Given the description of an element on the screen output the (x, y) to click on. 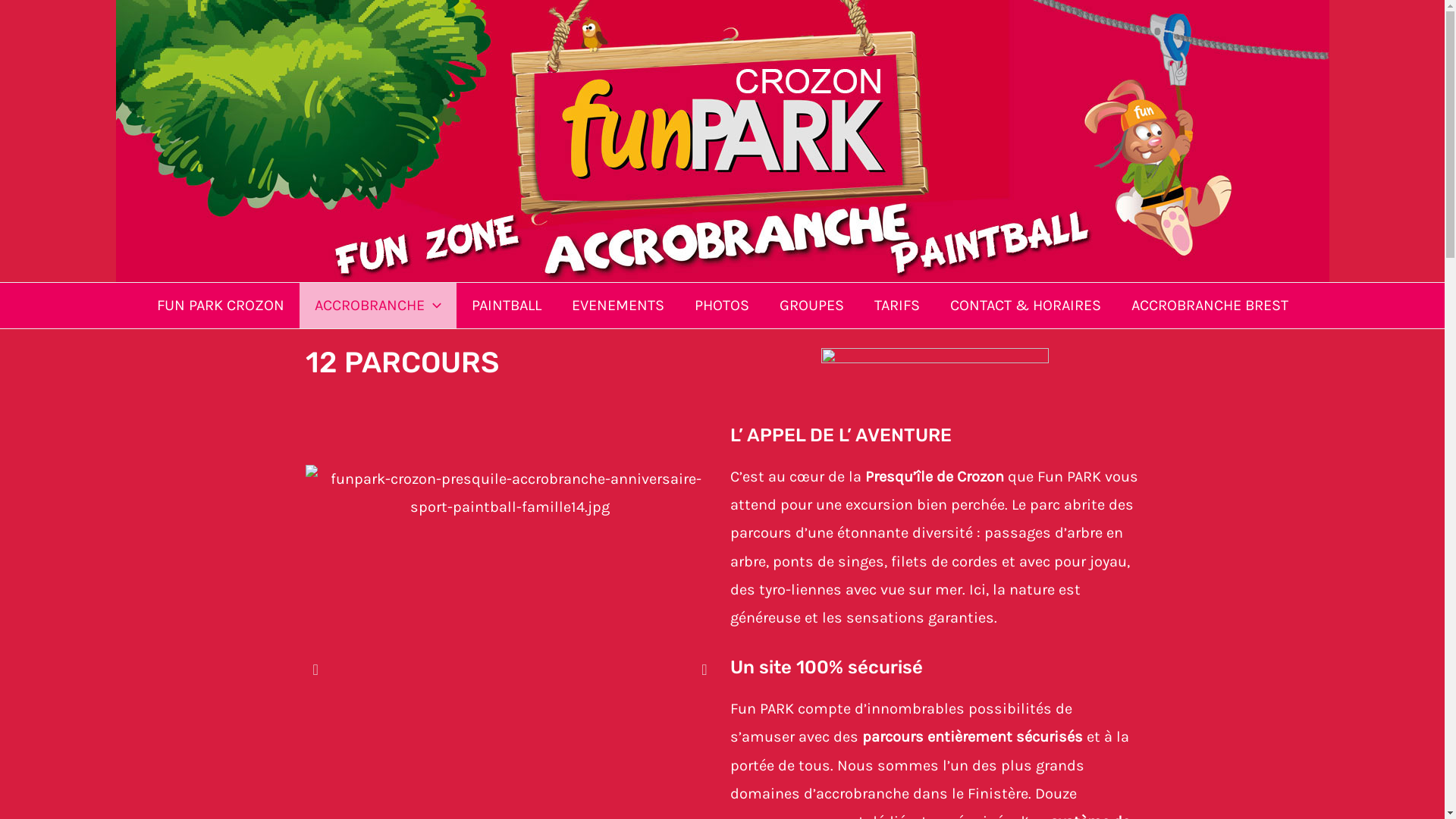
PHOTOS Element type: text (721, 305)
PAINTBALL Element type: text (506, 305)
GROUPES Element type: text (811, 305)
ACCROBRANCHE Element type: text (376, 305)
FUN PARK CROZON Element type: text (219, 305)
CONTACT & HORAIRES Element type: text (1024, 305)
TARIFS Element type: text (896, 305)
EVENEMENTS Element type: text (617, 305)
ACCROBRANCHE BREST Element type: text (1209, 305)
